Given the description of an element on the screen output the (x, y) to click on. 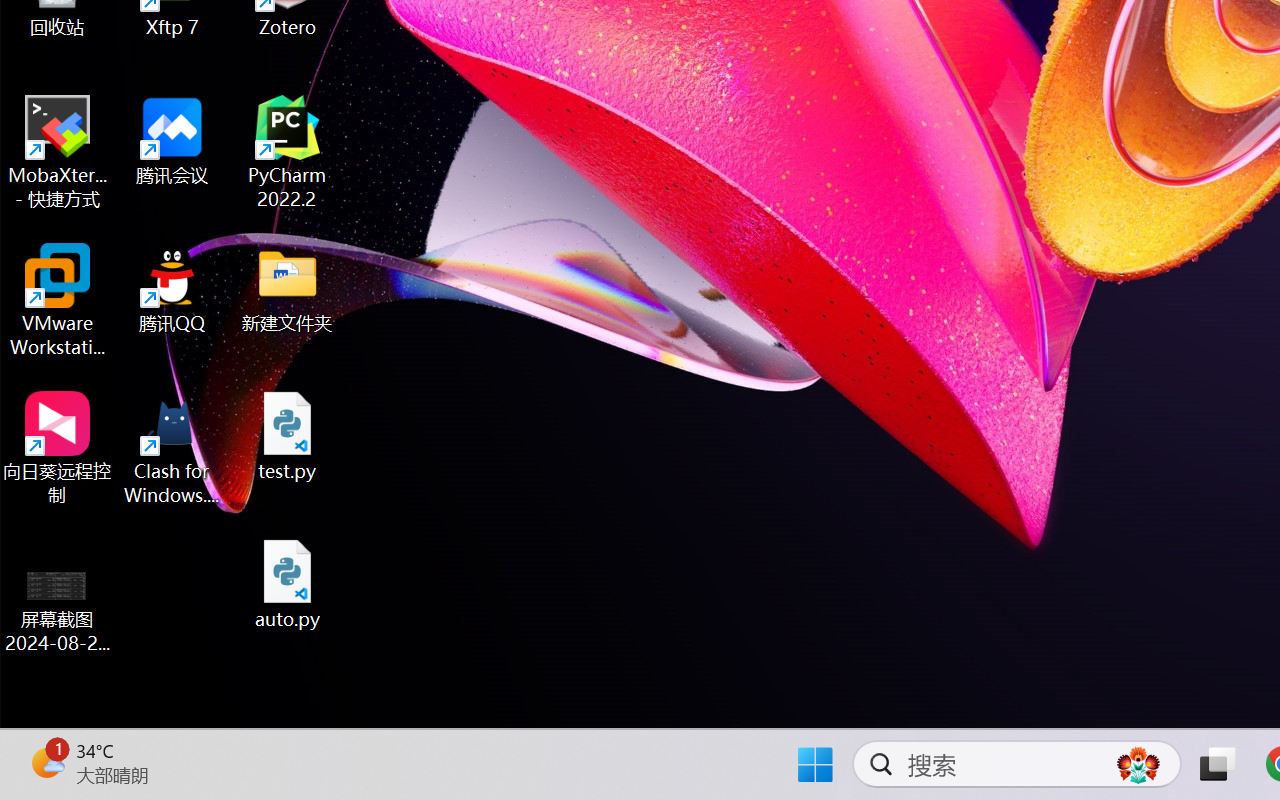
test.py (287, 436)
PyCharm 2022.2 (287, 152)
VMware Workstation Pro (57, 300)
